Given the description of an element on the screen output the (x, y) to click on. 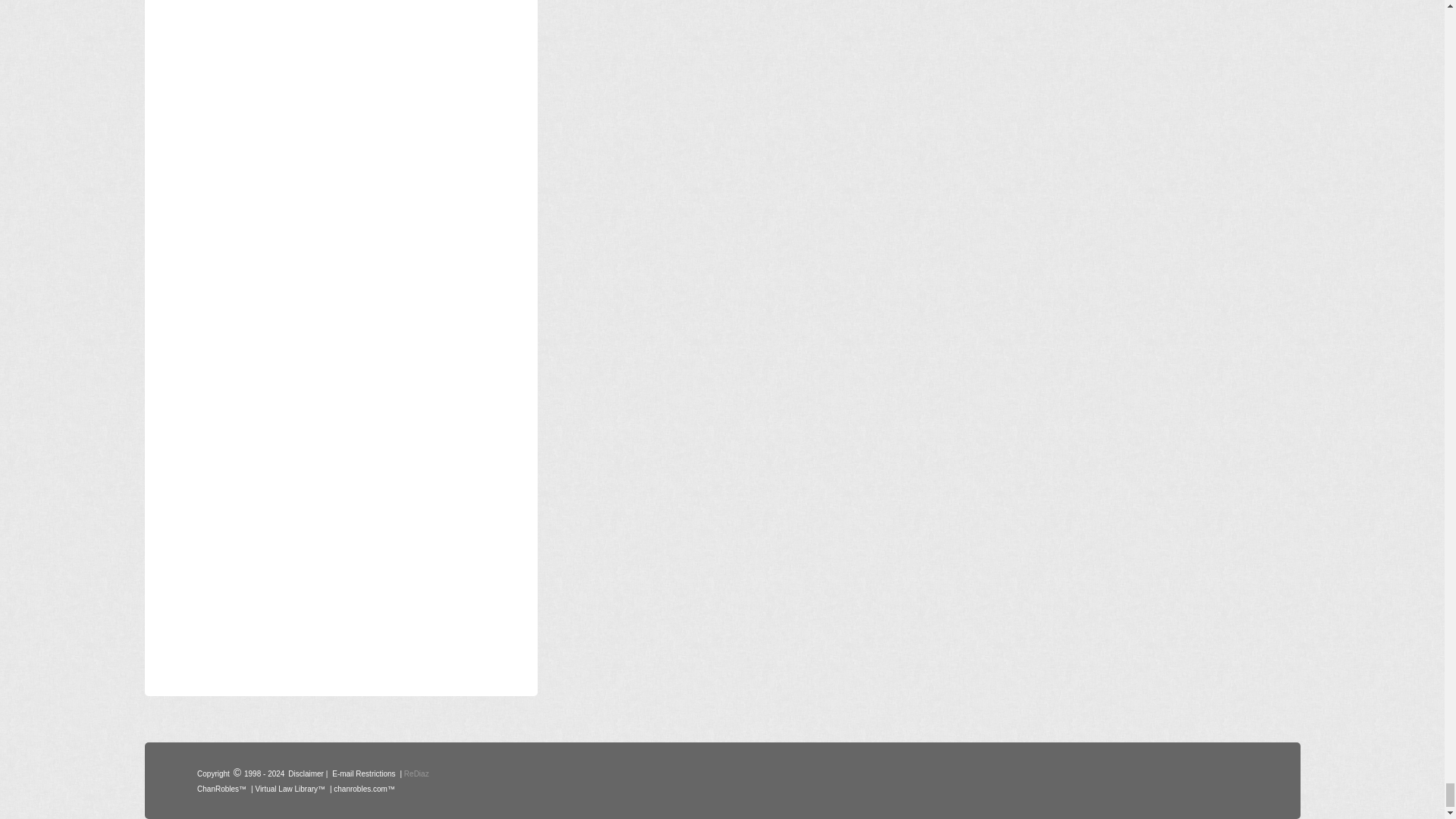
Copyright (213, 772)
E-mail Restrictions (363, 772)
